Given the description of an element on the screen output the (x, y) to click on. 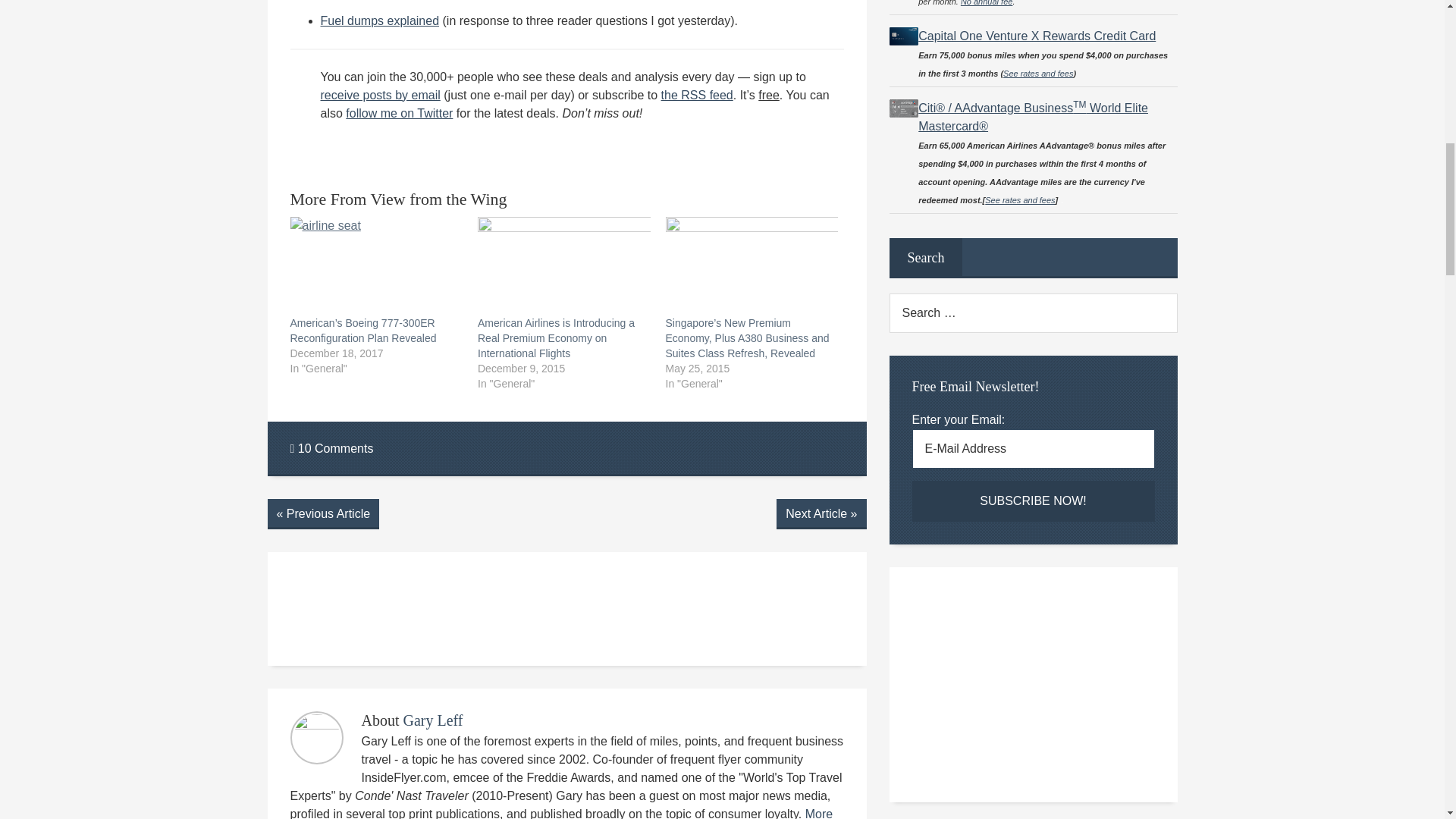
10 Comments (330, 448)
Fuel dumps explained (379, 20)
the RSS feed (697, 94)
receive posts by email (379, 94)
E-Mail Address (1032, 448)
follow me on Twitter (399, 113)
Subscribe Now! (1032, 500)
